Given the description of an element on the screen output the (x, y) to click on. 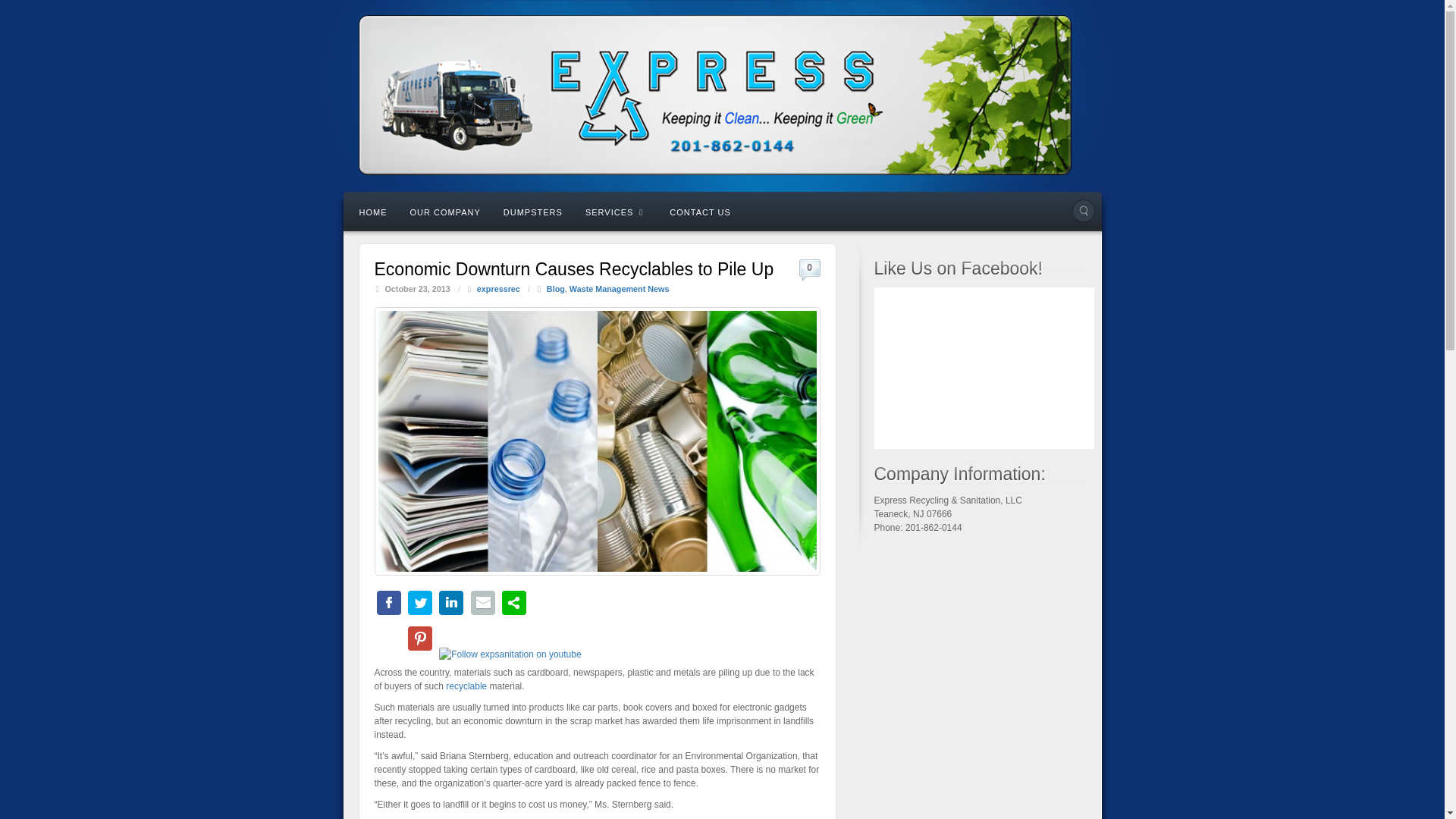
Waste Management News (619, 288)
SERVICES (615, 210)
Express Recycling and Sanitation (722, 95)
OUR COMPANY (445, 210)
CONTACT US (700, 210)
expressrec (498, 288)
Search the site... (1082, 210)
View all posts by expressrec (498, 288)
recyclable (465, 685)
Search the site... (1082, 210)
